Given the description of an element on the screen output the (x, y) to click on. 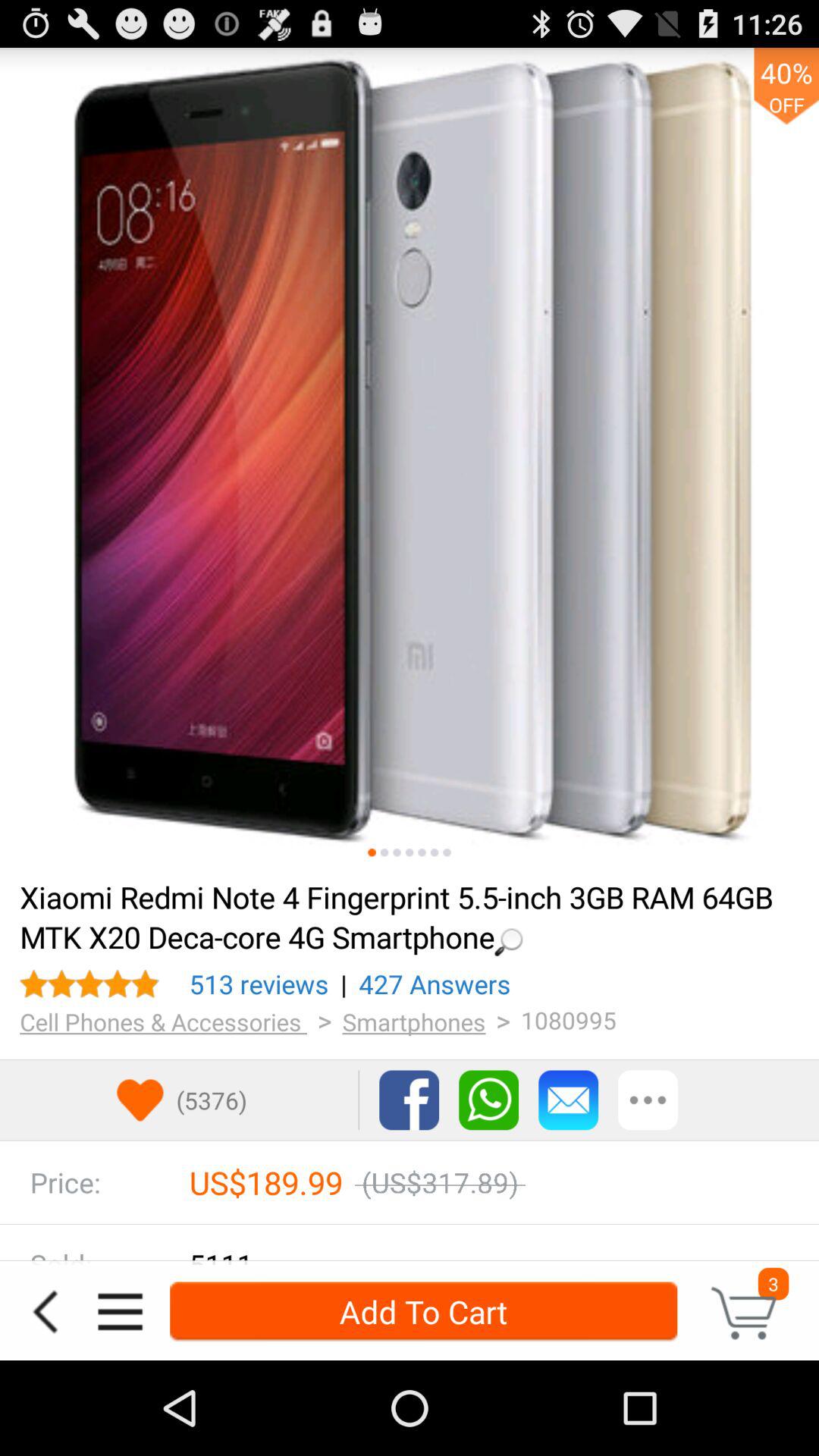
view menu (120, 1311)
